Given the description of an element on the screen output the (x, y) to click on. 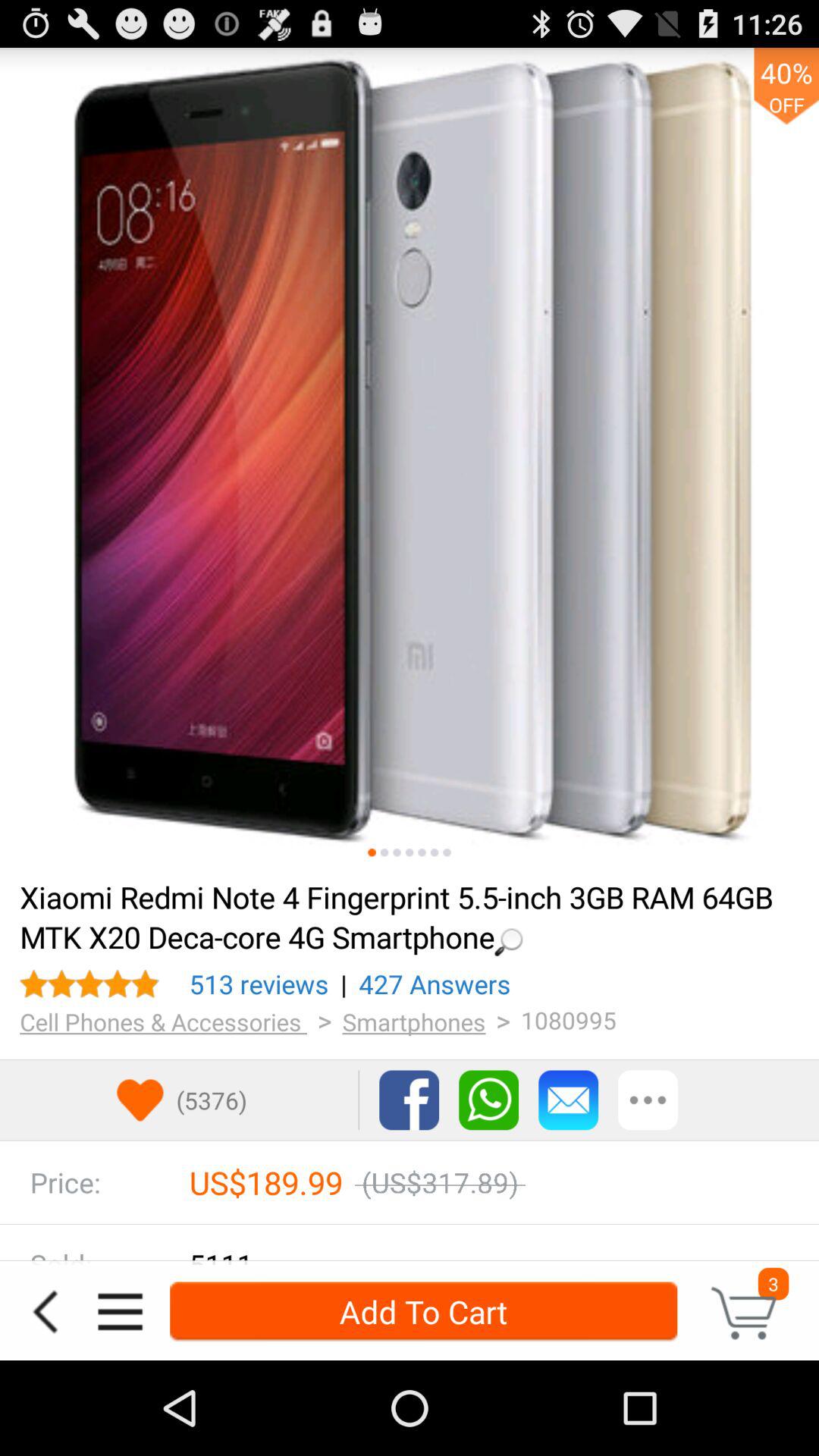
view menu (120, 1311)
